Given the description of an element on the screen output the (x, y) to click on. 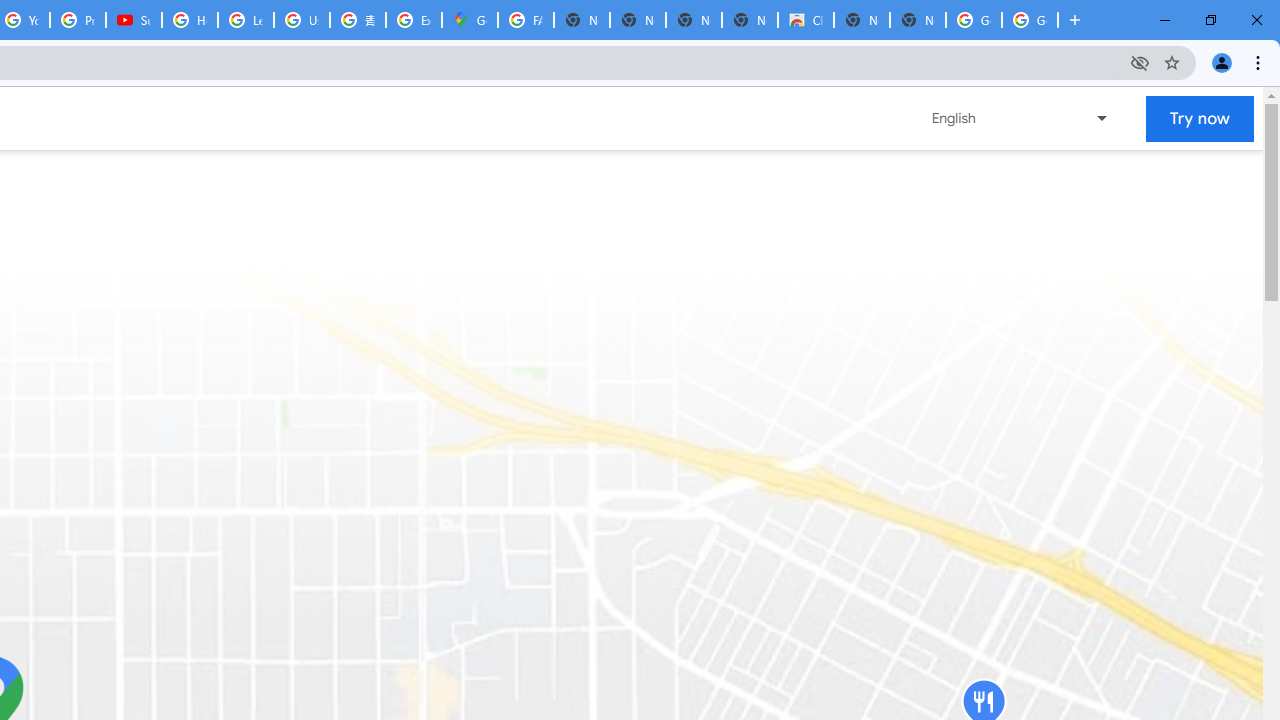
How Chrome protects your passwords - Google Chrome Help (189, 20)
Google Images (1030, 20)
Google Maps (469, 20)
Chrome Web Store (806, 20)
New Tab (917, 20)
Try now (1199, 118)
